Given the description of an element on the screen output the (x, y) to click on. 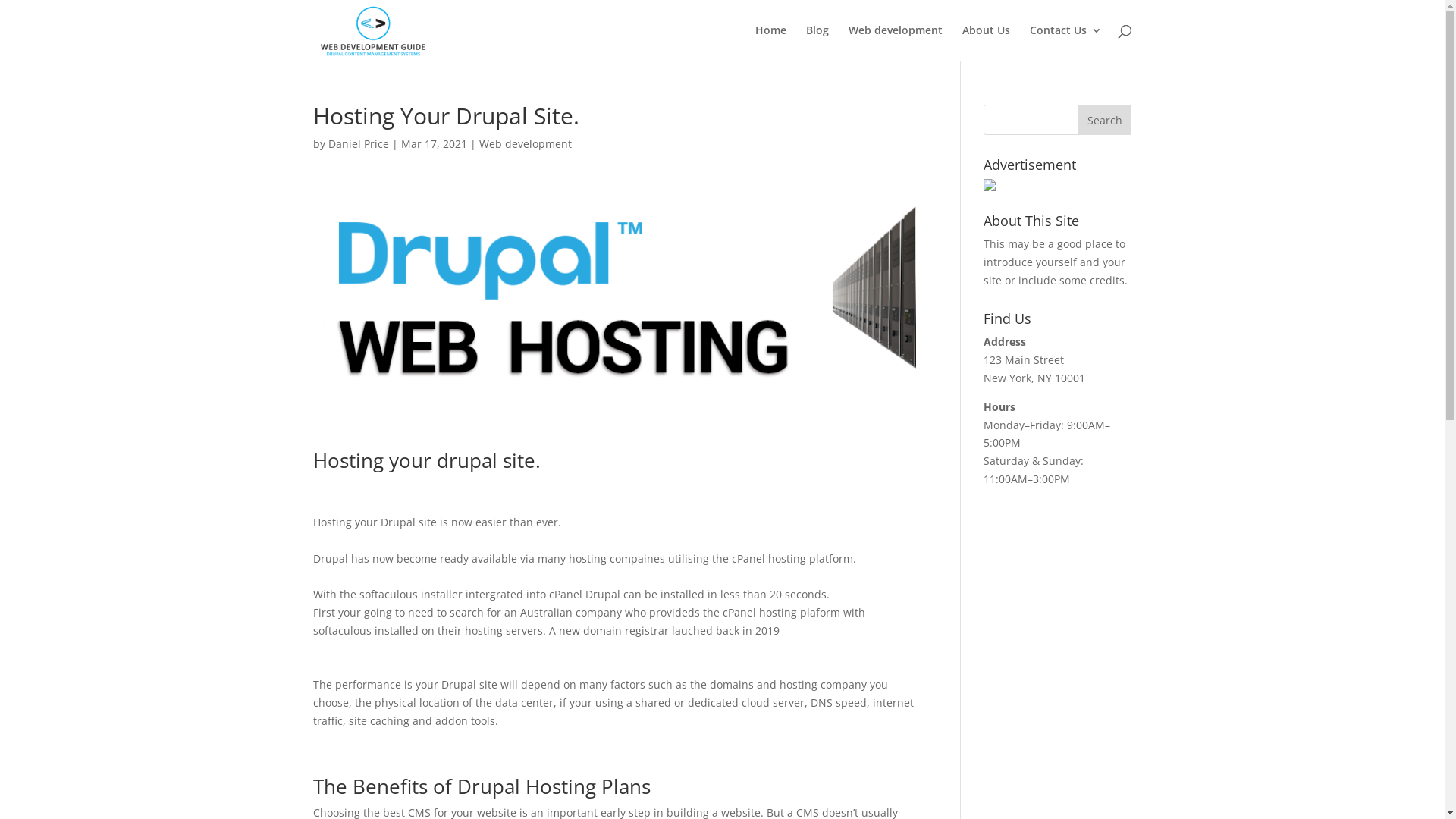
Home Element type: text (770, 42)
Search Element type: text (1104, 119)
Daniel Price Element type: text (357, 143)
About Us Element type: text (985, 42)
Web development Element type: text (894, 42)
Contact Us Element type: text (1065, 42)
Web development Element type: text (525, 143)
Blog Element type: text (816, 42)
